Given the description of an element on the screen output the (x, y) to click on. 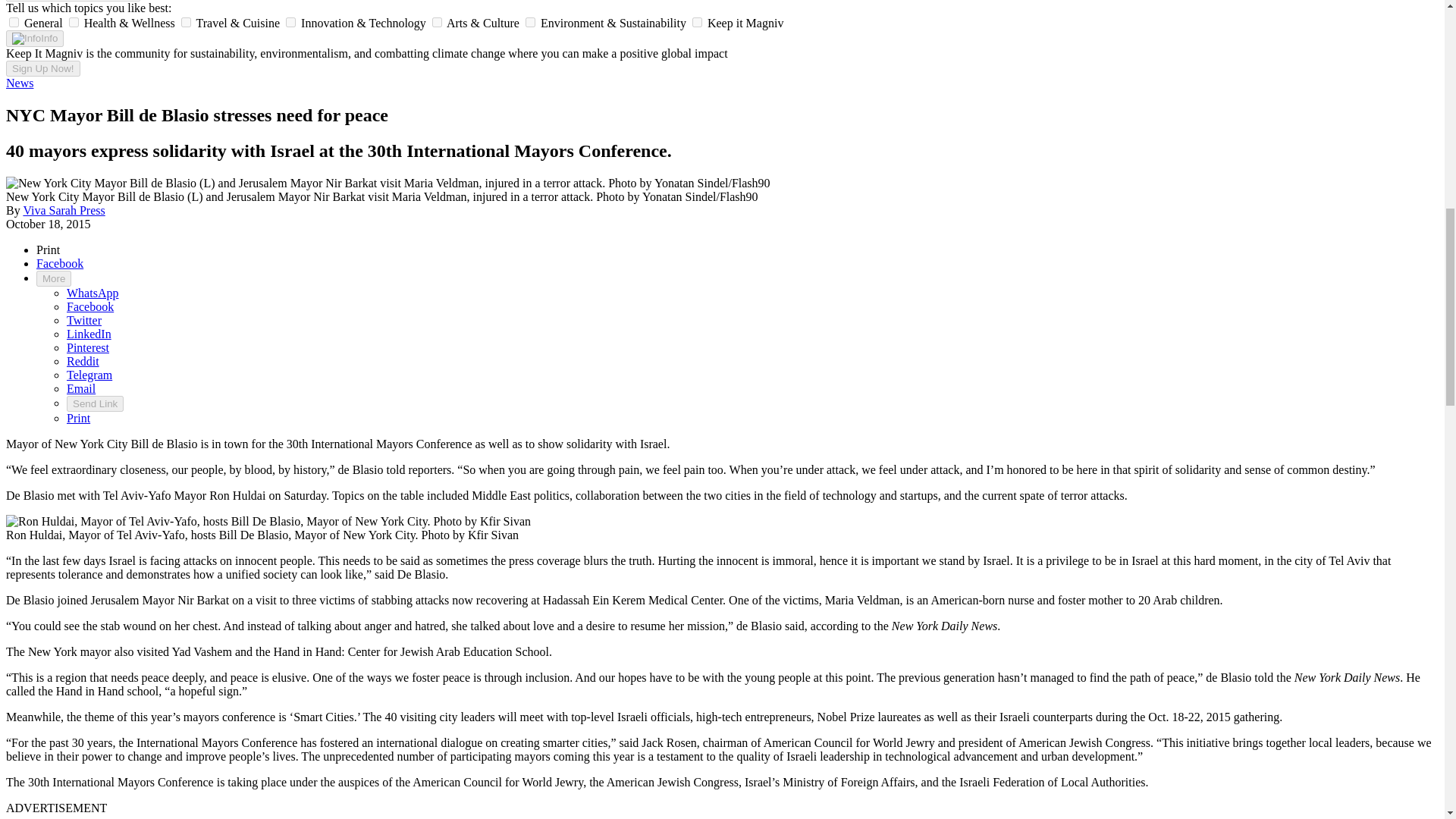
0 (13, 22)
6 (697, 22)
5 (530, 22)
4 (437, 22)
Viva Sarah Press (63, 210)
2 (185, 22)
3 (290, 22)
1 (73, 22)
Info (34, 38)
